Given the description of an element on the screen output the (x, y) to click on. 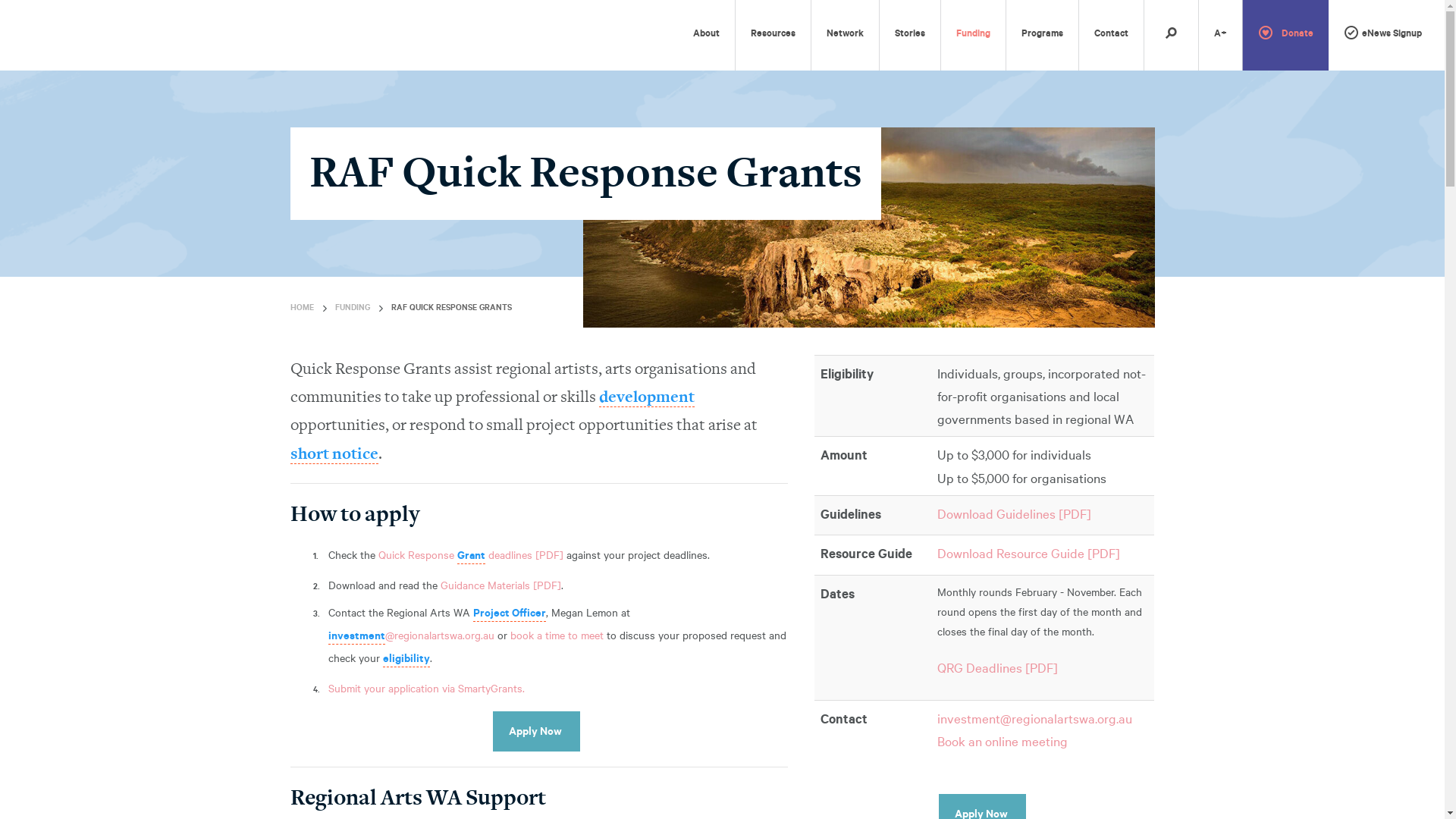
investment@regionalartswa.org.au Element type: text (410, 634)
Network Element type: text (844, 35)
Donate Element type: text (1285, 35)
eNews Signup Element type: text (1382, 35)
About Element type: text (705, 35)
Programs Element type: text (1042, 35)
Guidance Materials [PDF] Element type: text (499, 584)
Contact Element type: text (1111, 35)
Submit your application via SmartyGrants. Element type: text (425, 687)
FUNDING Element type: text (352, 308)
Regional Arts WA Element type: text (60, 34)
HOME Element type: text (301, 308)
Resources Element type: text (772, 35)
Download Guidelines [PDF] Element type: text (1014, 512)
A+ Element type: text (1220, 35)
Stories Element type: text (909, 35)
investment@regionalartswa.org.au Element type: text (1034, 717)
Book an online meeting Element type: text (1002, 740)
book a time to meet Element type: text (555, 634)
Apply Now Element type: text (536, 731)
Download Resource Guide [PDF] Element type: text (1028, 552)
QRG Deadlines [PDF] Element type: text (997, 666)
Quick Response Grant deadlines [PDF] Element type: text (469, 553)
Funding Element type: text (973, 35)
RAF QUICK RESPONSE GRANTS Element type: text (451, 308)
